Given the description of an element on the screen output the (x, y) to click on. 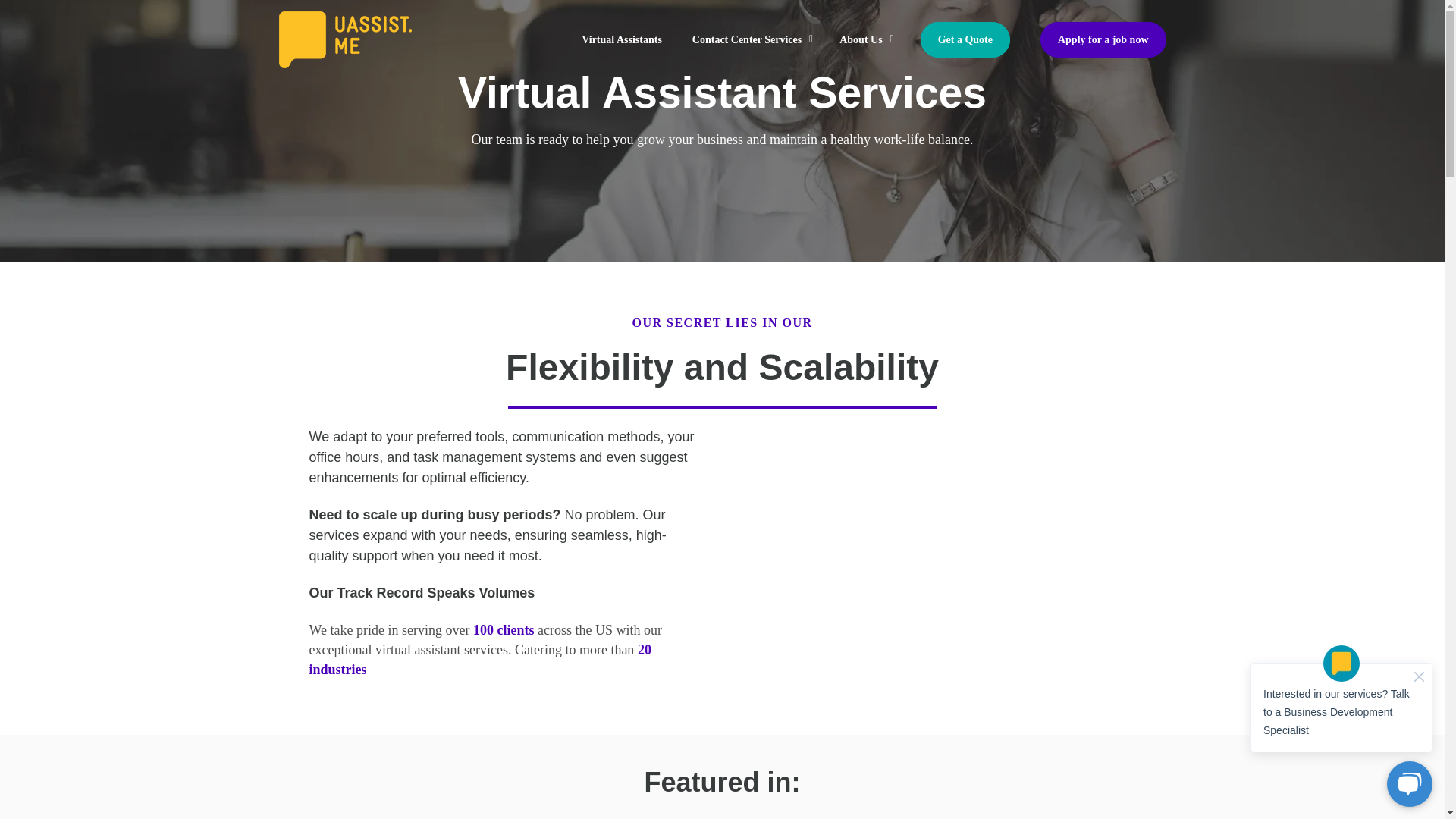
Logo UAM (345, 39)
forbes (612, 818)
Virtual Assistants (621, 39)
empact-1 (1051, 818)
Get a Quote (965, 39)
inc-2 (831, 818)
the-manifest (392, 818)
About Us (864, 39)
Apply for a job now (1095, 39)
Contact Center Services (750, 39)
undefined (941, 558)
